Given the description of an element on the screen output the (x, y) to click on. 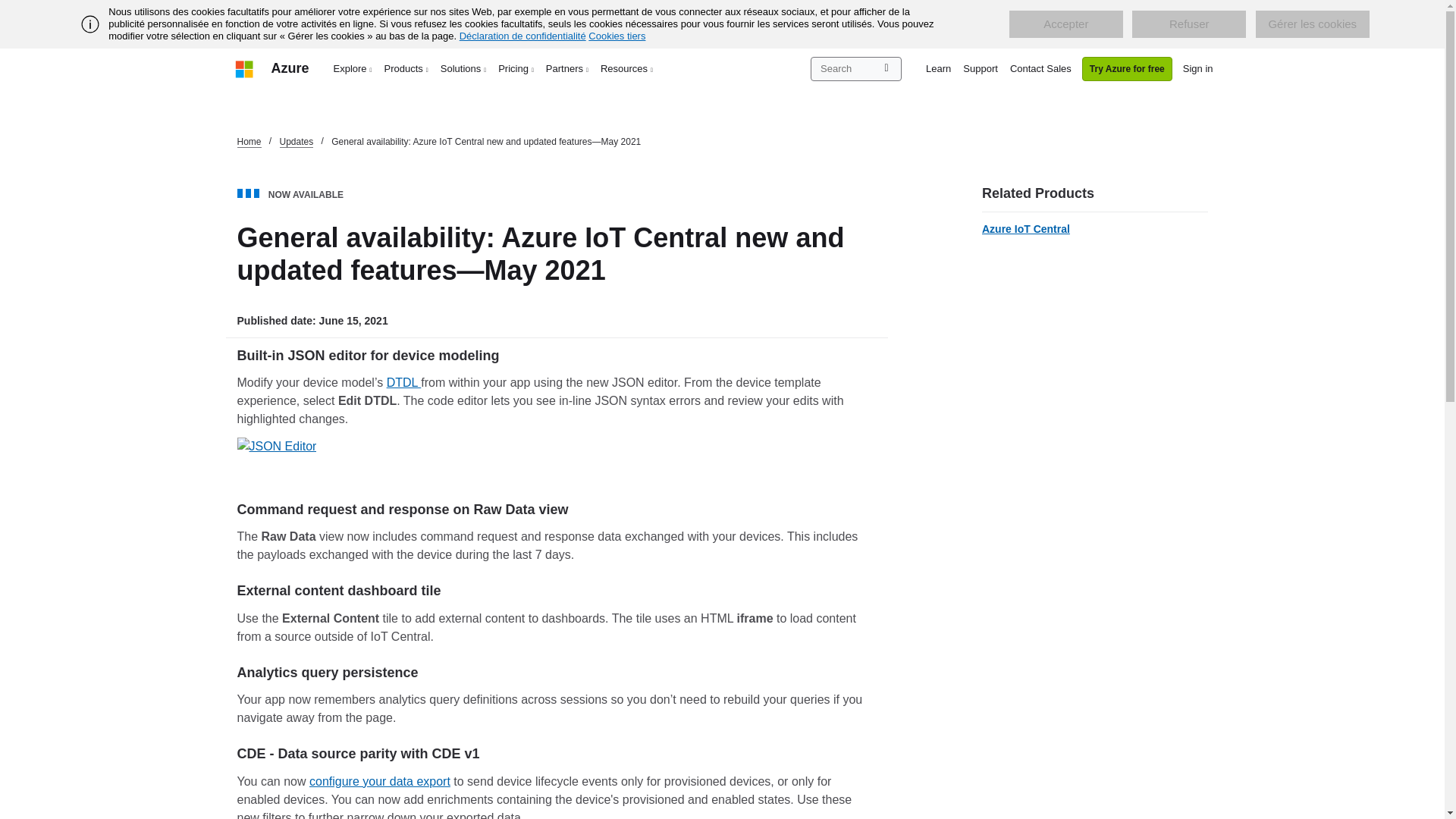
Explore (352, 68)
Accepter (1065, 23)
Skip to main content (7, 7)
Cookies tiers (616, 35)
Azure (289, 68)
Refuser (1189, 23)
Products (405, 68)
